Given the description of an element on the screen output the (x, y) to click on. 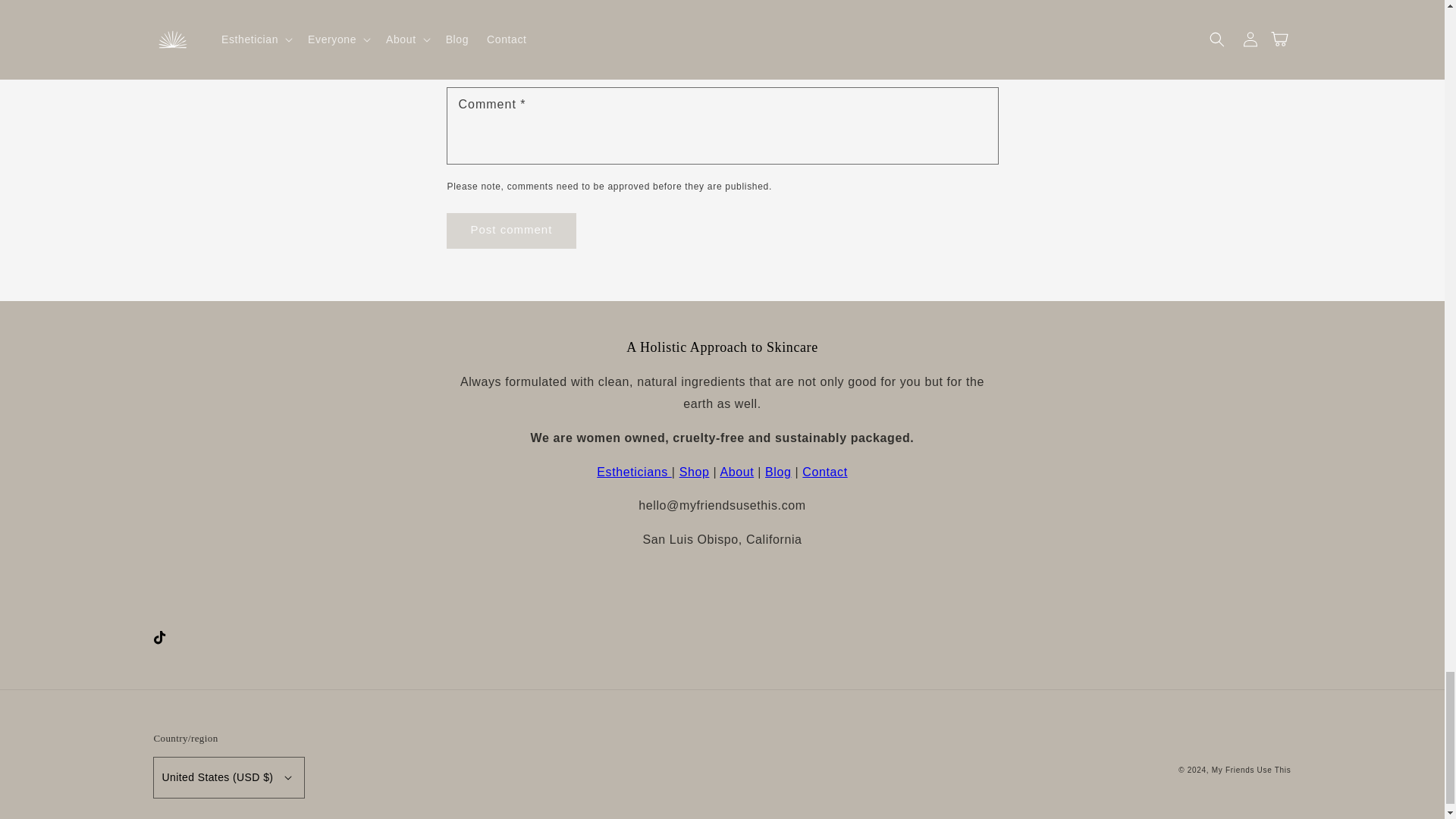
Contact (824, 472)
read (777, 472)
treatment room essentials (633, 472)
All collections (694, 472)
Post comment (511, 230)
meet the makers (736, 472)
